Given the description of an element on the screen output the (x, y) to click on. 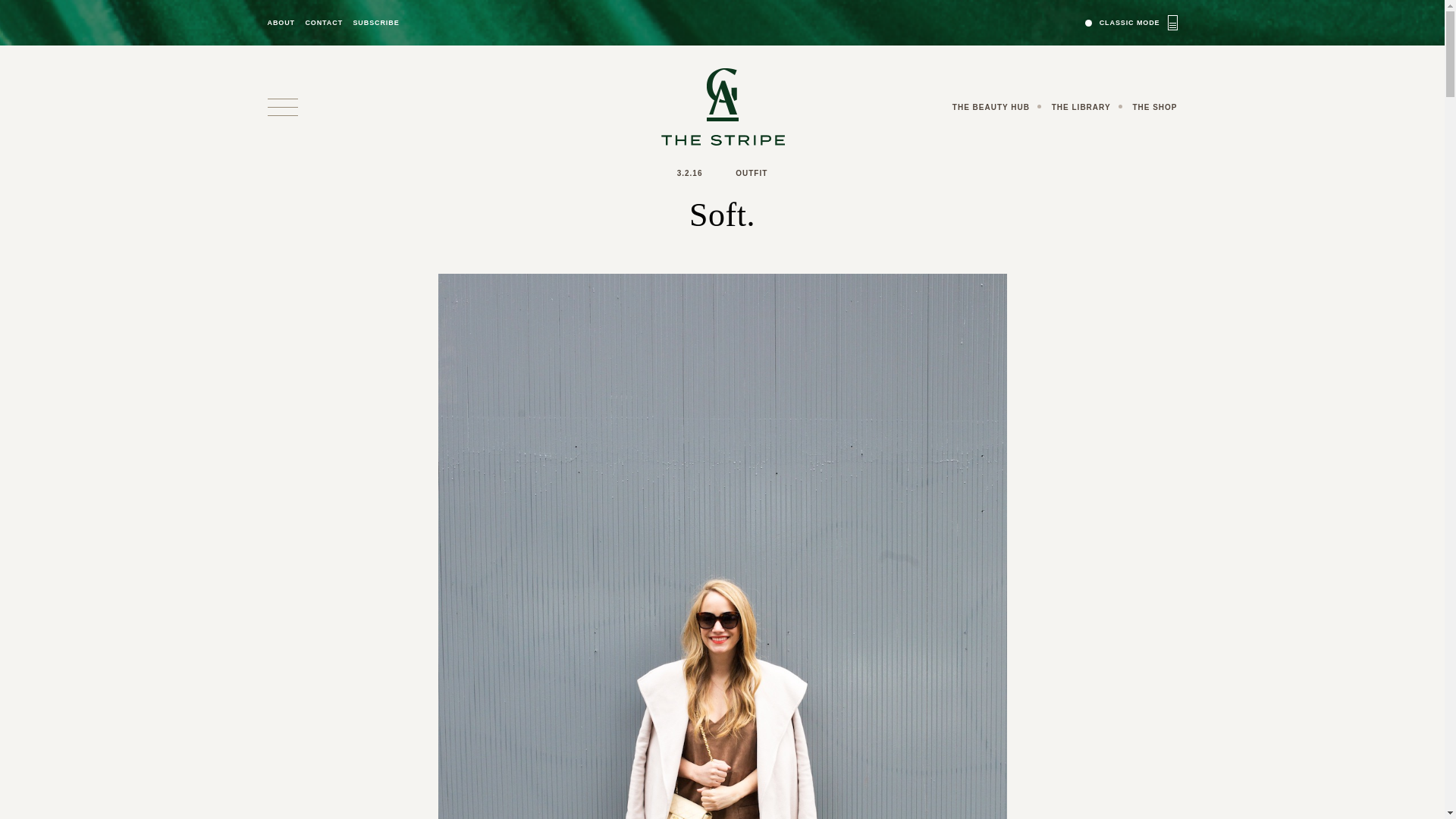
The Stripe (722, 106)
SUBSCRIBE (375, 23)
CONTACT (323, 23)
ABOUT (280, 23)
View all posts in outfit (751, 172)
CLASSIC MODE (1130, 22)
